Given the description of an element on the screen output the (x, y) to click on. 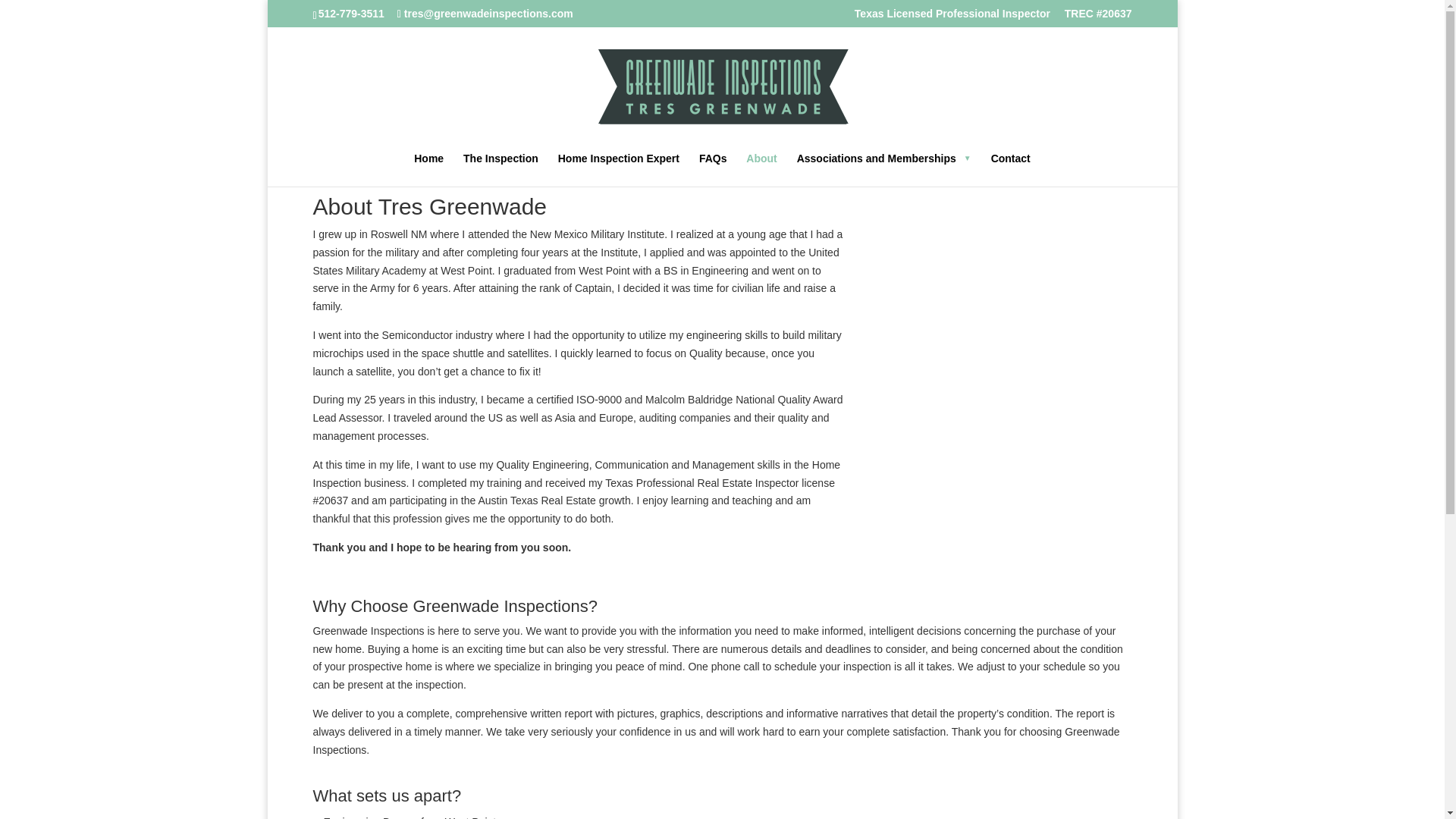
Associations and Memberships (883, 169)
About (760, 169)
Contact (1010, 169)
The Inspection (500, 169)
Texas Licensed Professional Inspector (951, 16)
Home Inspection Expert (618, 169)
